Given the description of an element on the screen output the (x, y) to click on. 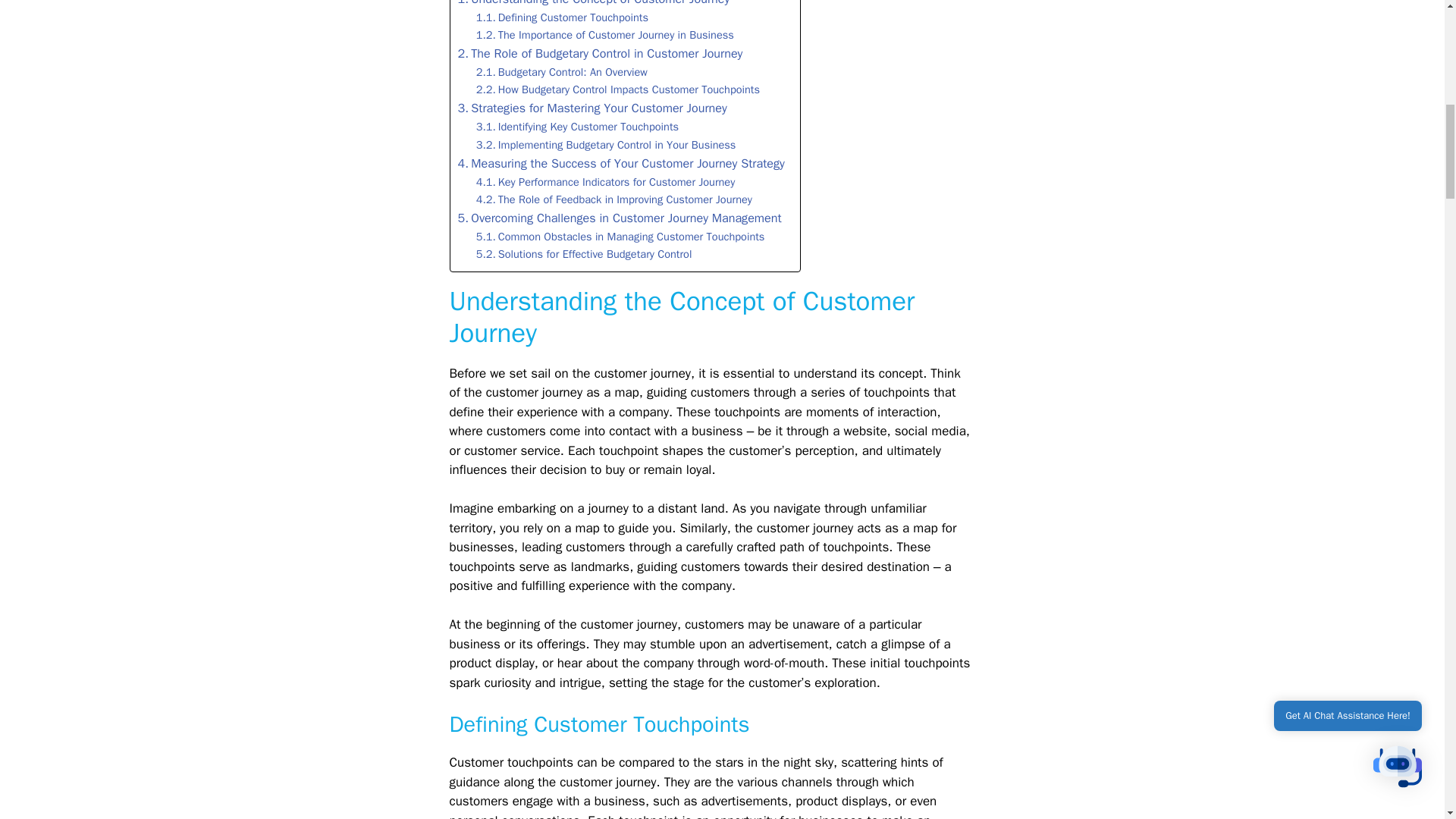
The Importance of Customer Journey in Business (604, 35)
The Role of Feedback in Improving Customer Journey (614, 199)
Identifying Key Customer Touchpoints (577, 126)
How Budgetary Control Impacts Customer Touchpoints (618, 89)
Understanding the Concept of Customer Journey (594, 4)
Measuring the Success of Your Customer Journey Strategy (621, 163)
Solutions for Effective Budgetary Control (584, 253)
Defining Customer Touchpoints (561, 17)
The Importance of Customer Journey in Business (604, 35)
Solutions for Effective Budgetary Control (584, 253)
